Given the description of an element on the screen output the (x, y) to click on. 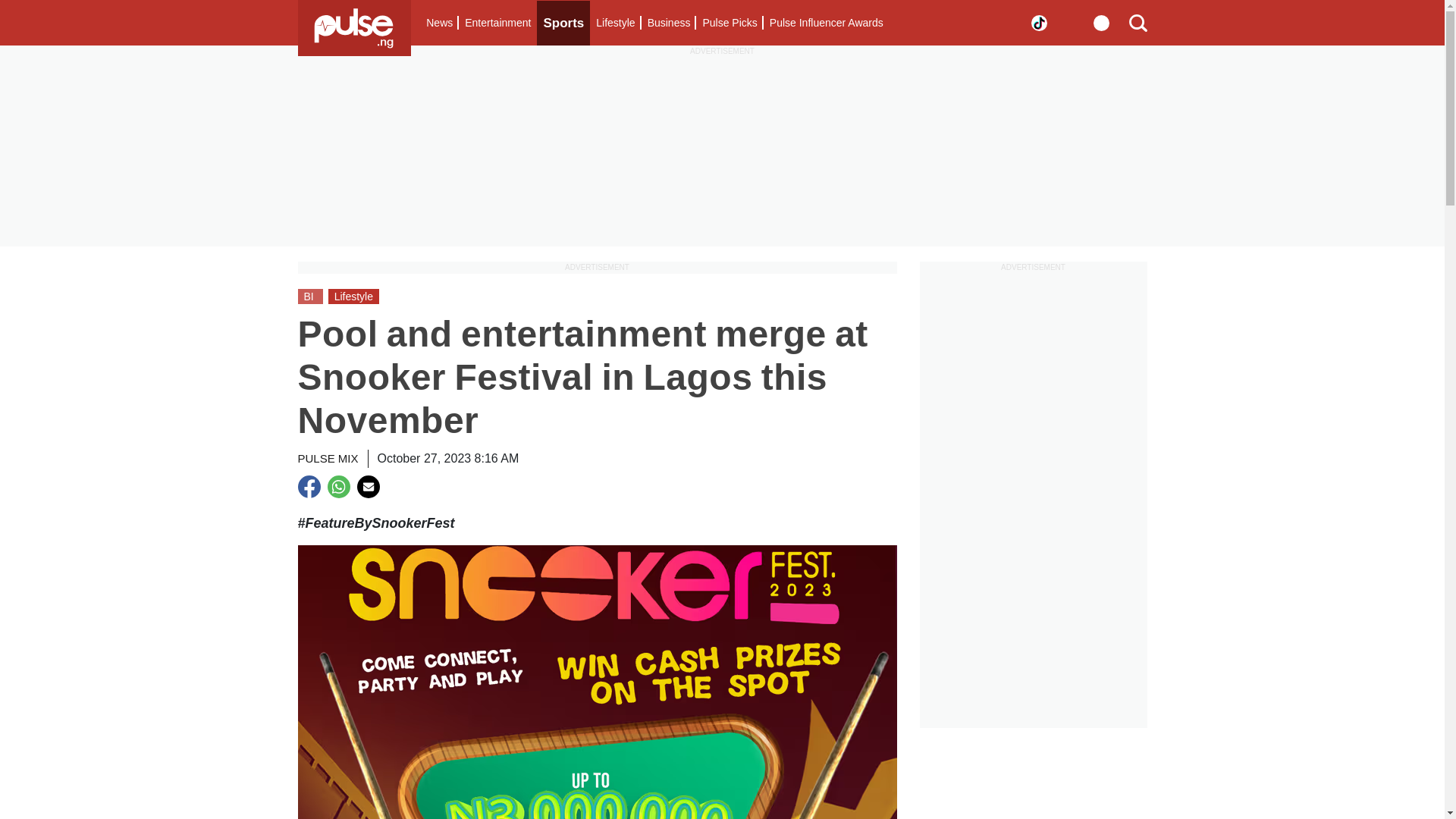
Entertainment (497, 22)
Lifestyle (614, 22)
Sports (563, 22)
Business (669, 22)
